Given the description of an element on the screen output the (x, y) to click on. 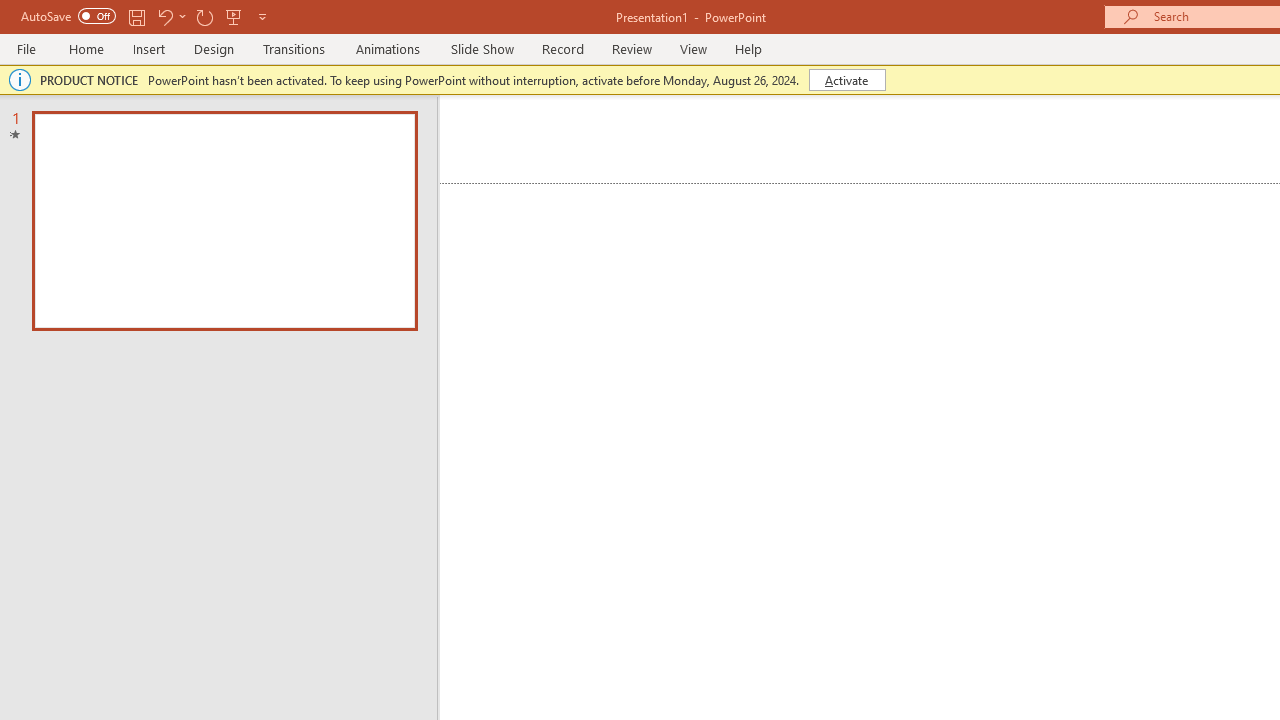
Text Highlight Color Yellow (495, 180)
Character Border (656, 137)
Sort... (1054, 137)
Undo Typing (290, 31)
Mirror indents (1061, 621)
Shrink Font (468, 137)
Open (399, 137)
Right: (1150, 582)
Redo Style (341, 31)
